Given the description of an element on the screen output the (x, y) to click on. 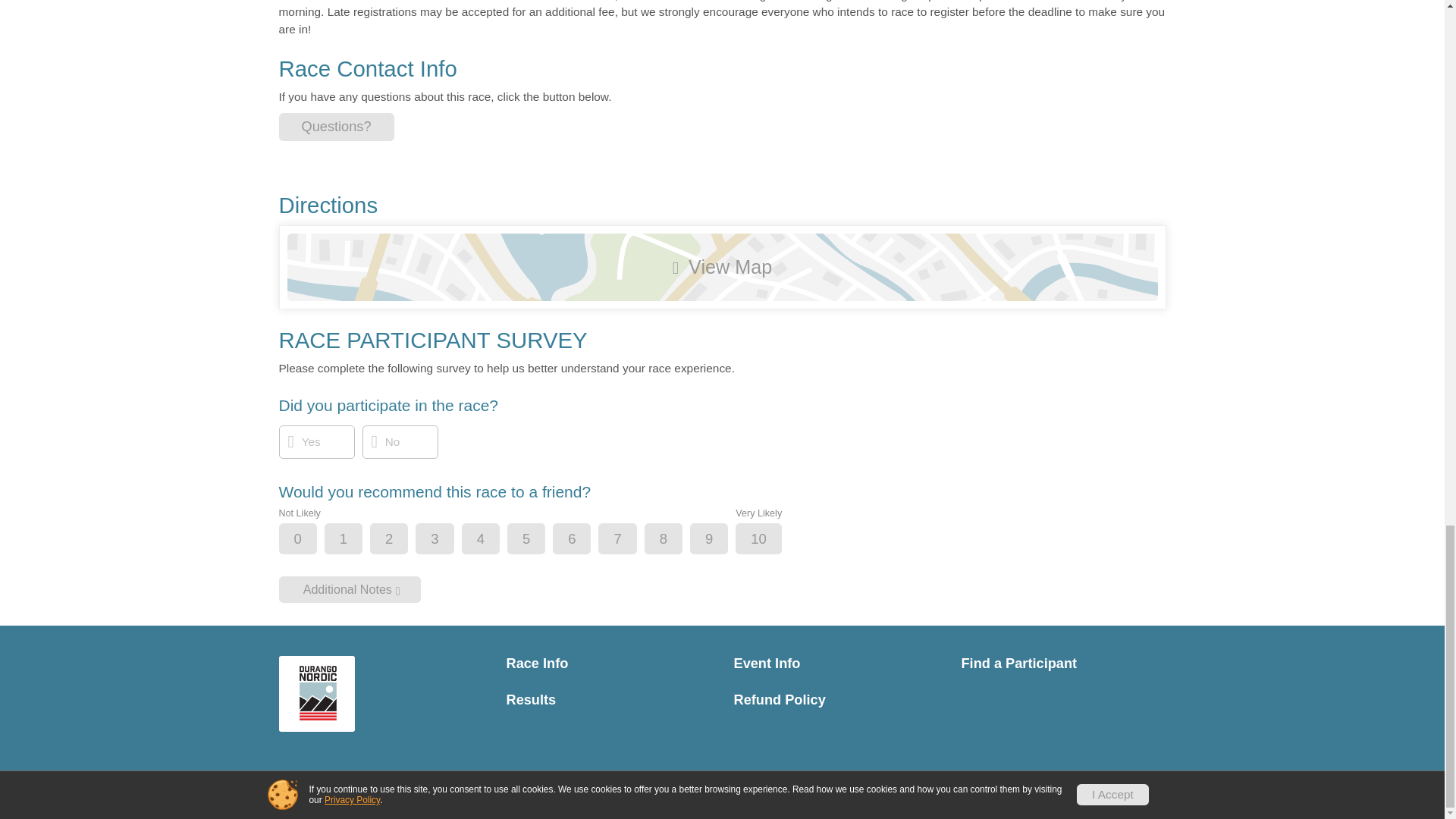
10 (770, 539)
9 (721, 539)
6 (584, 539)
8 (675, 539)
Race Info (608, 663)
1 (355, 539)
Questions? (336, 126)
5 (539, 539)
4 (493, 539)
View Map (721, 267)
Additional Notes (349, 589)
Results (608, 700)
7 (629, 539)
0 (310, 539)
2 (401, 539)
